Given the description of an element on the screen output the (x, y) to click on. 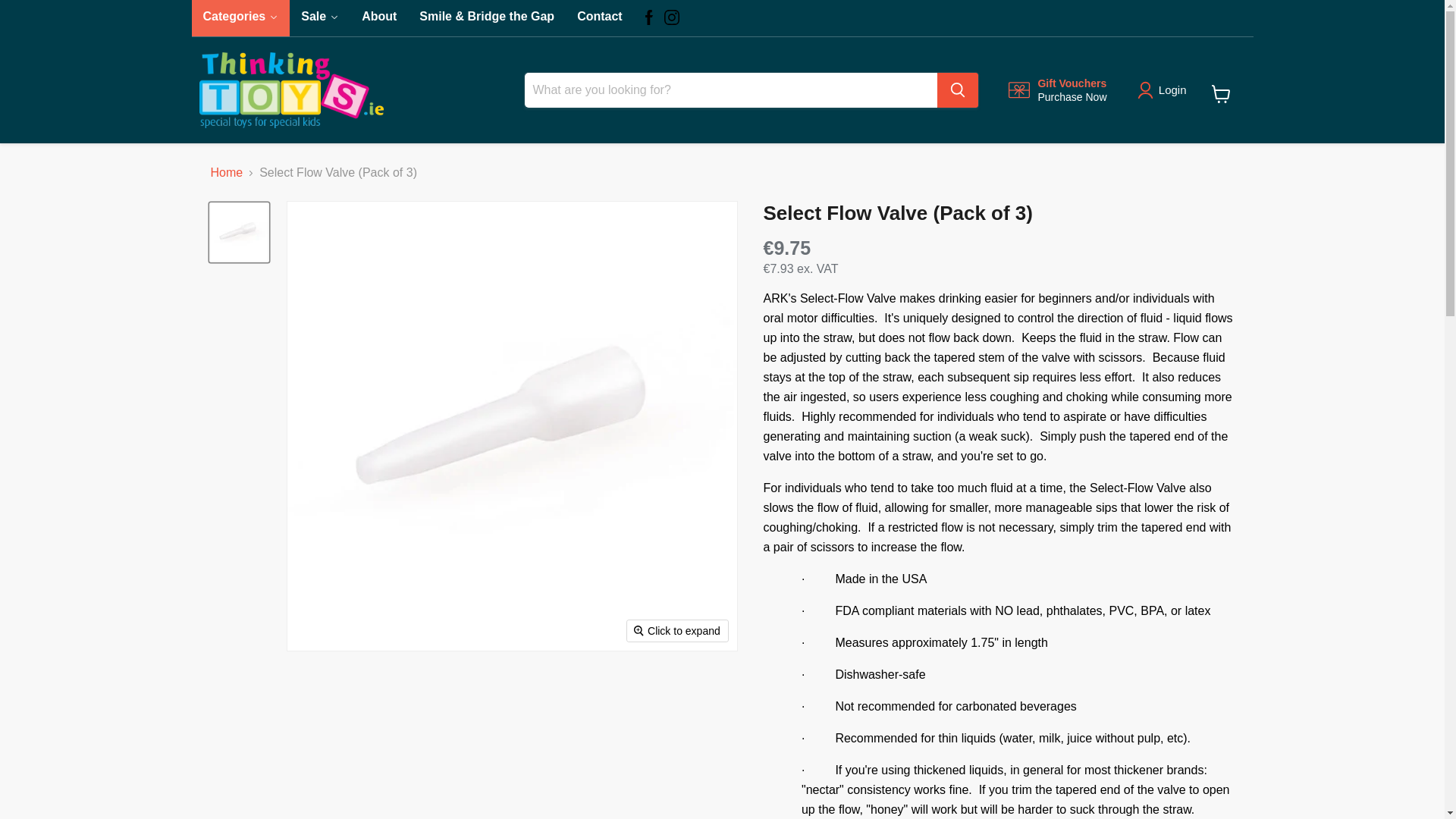
Login (1172, 97)
View cart (1221, 101)
Home (227, 180)
